Given the description of an element on the screen output the (x, y) to click on. 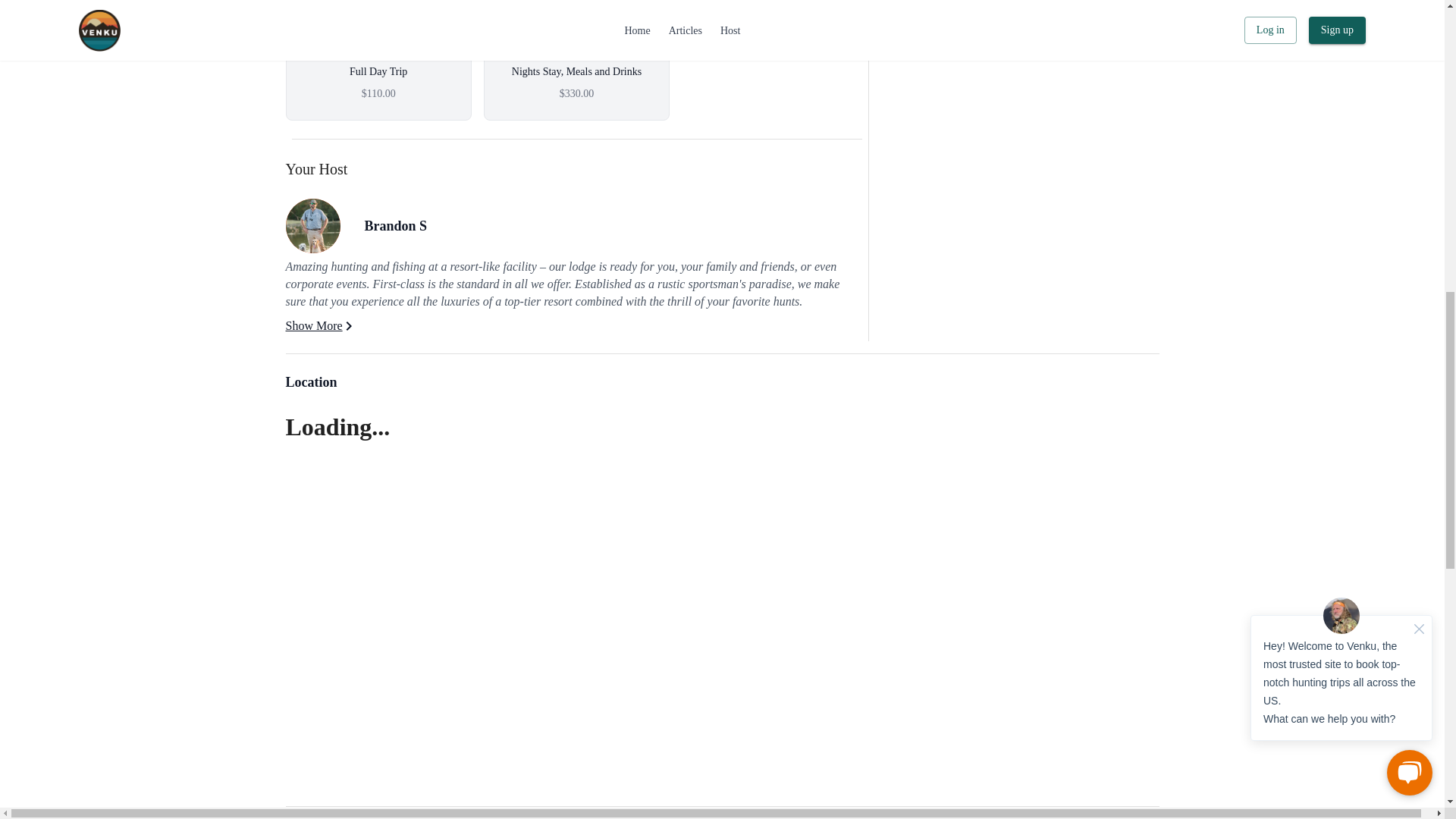
Show More (320, 325)
